Given the description of an element on the screen output the (x, y) to click on. 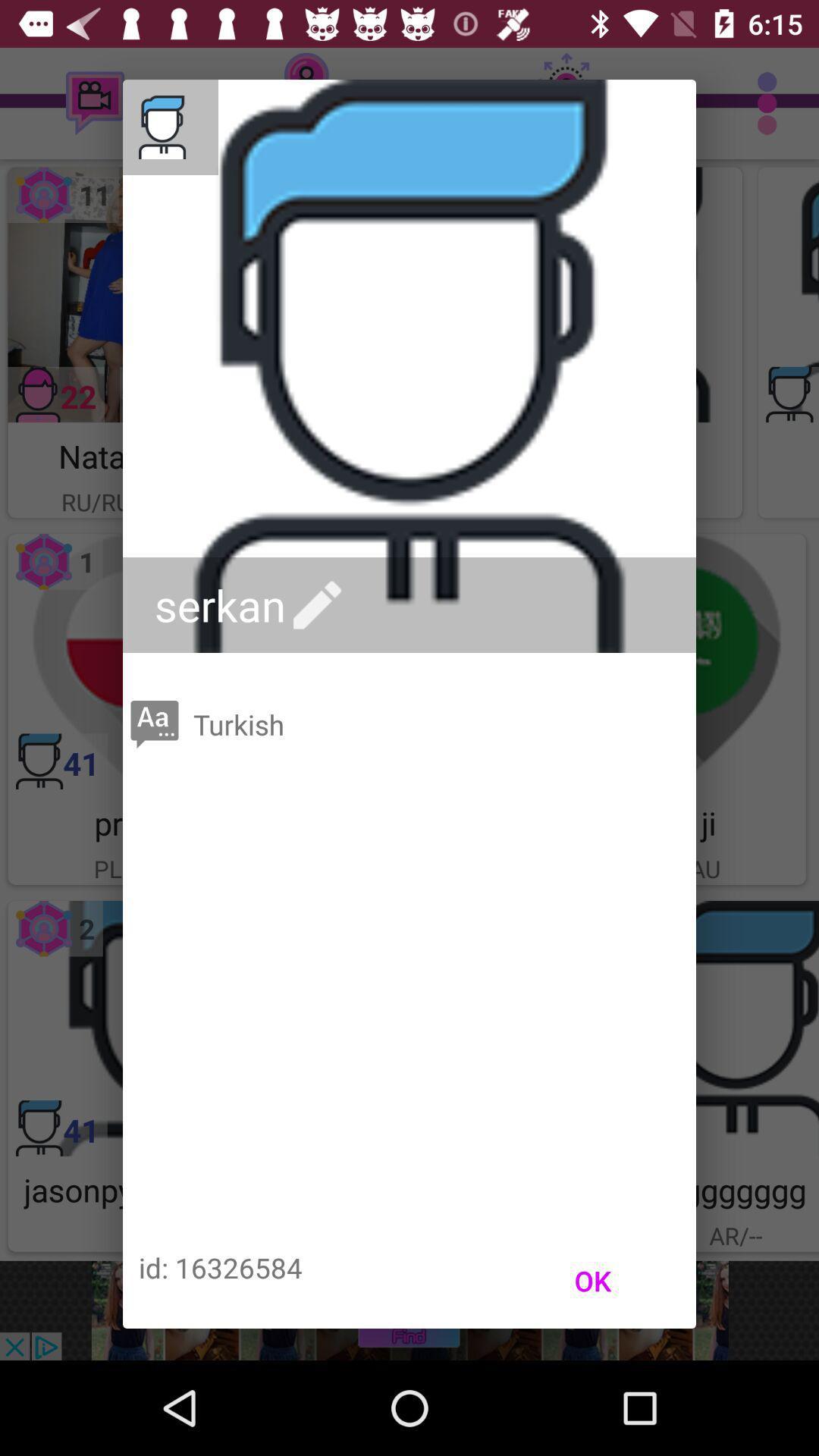
tap the serkan icon (251, 605)
